Given the description of an element on the screen output the (x, y) to click on. 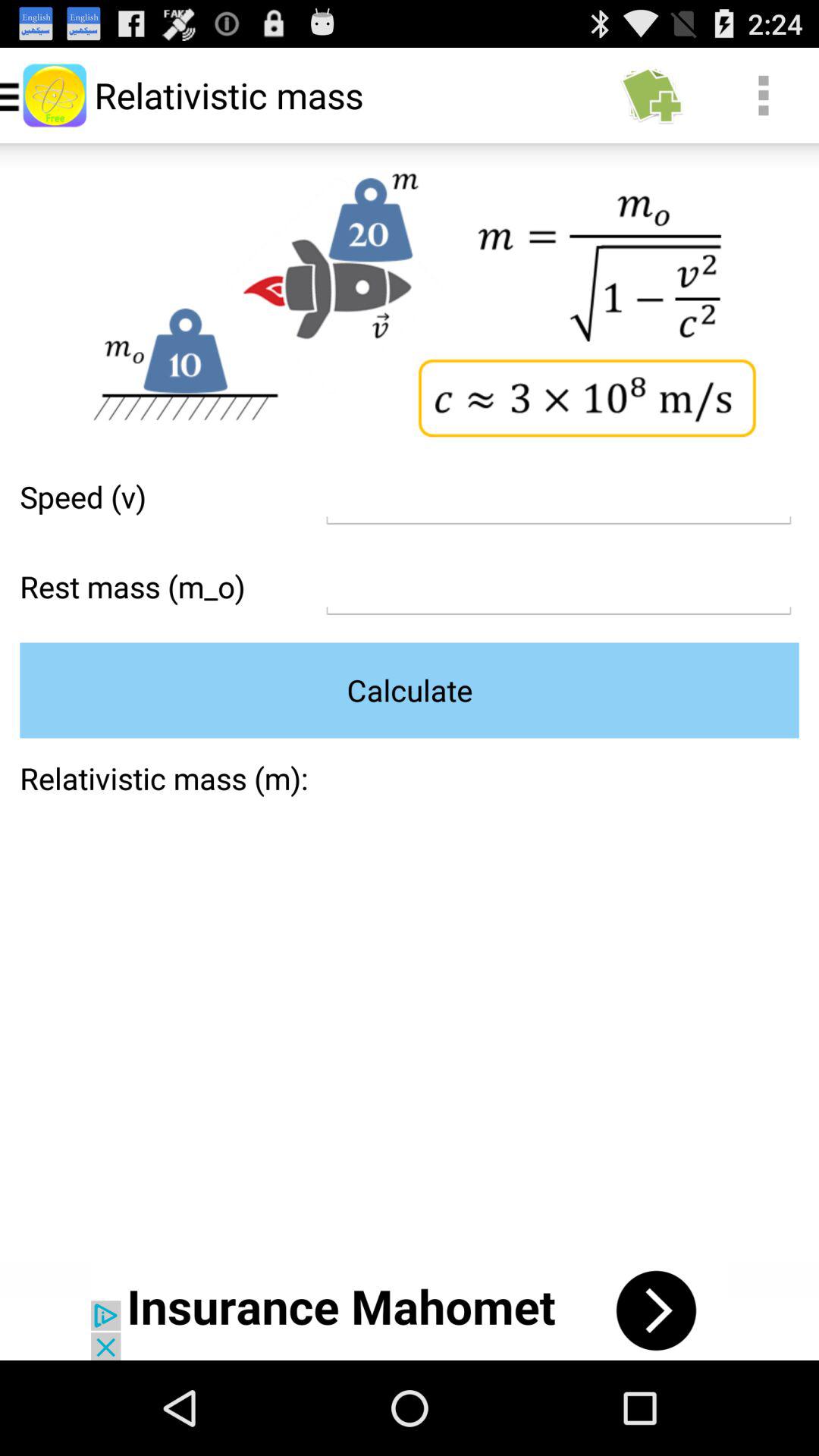
formula page (558, 496)
